Given the description of an element on the screen output the (x, y) to click on. 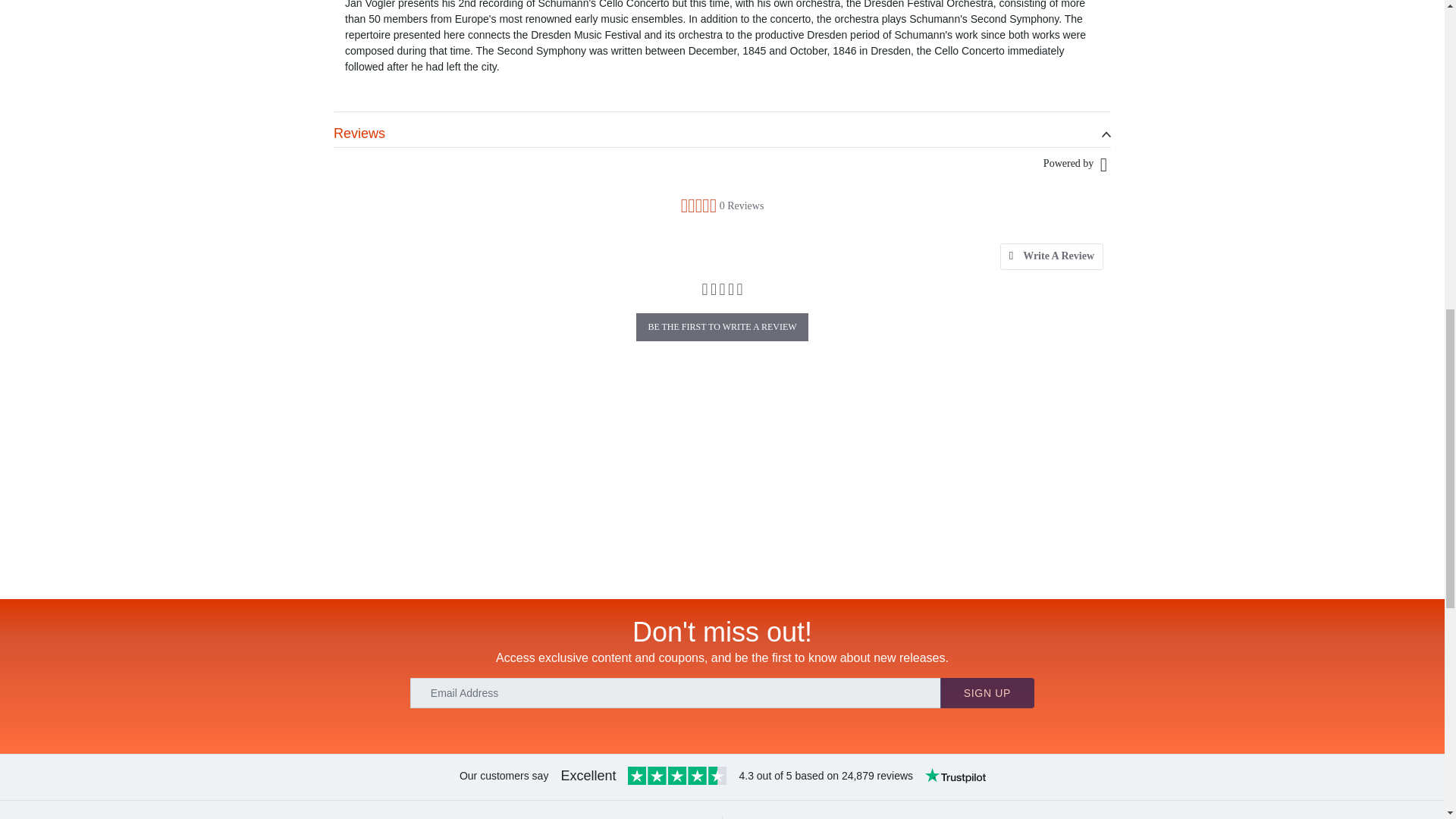
Customer reviews powered by Trustpilot (722, 776)
